Given the description of an element on the screen output the (x, y) to click on. 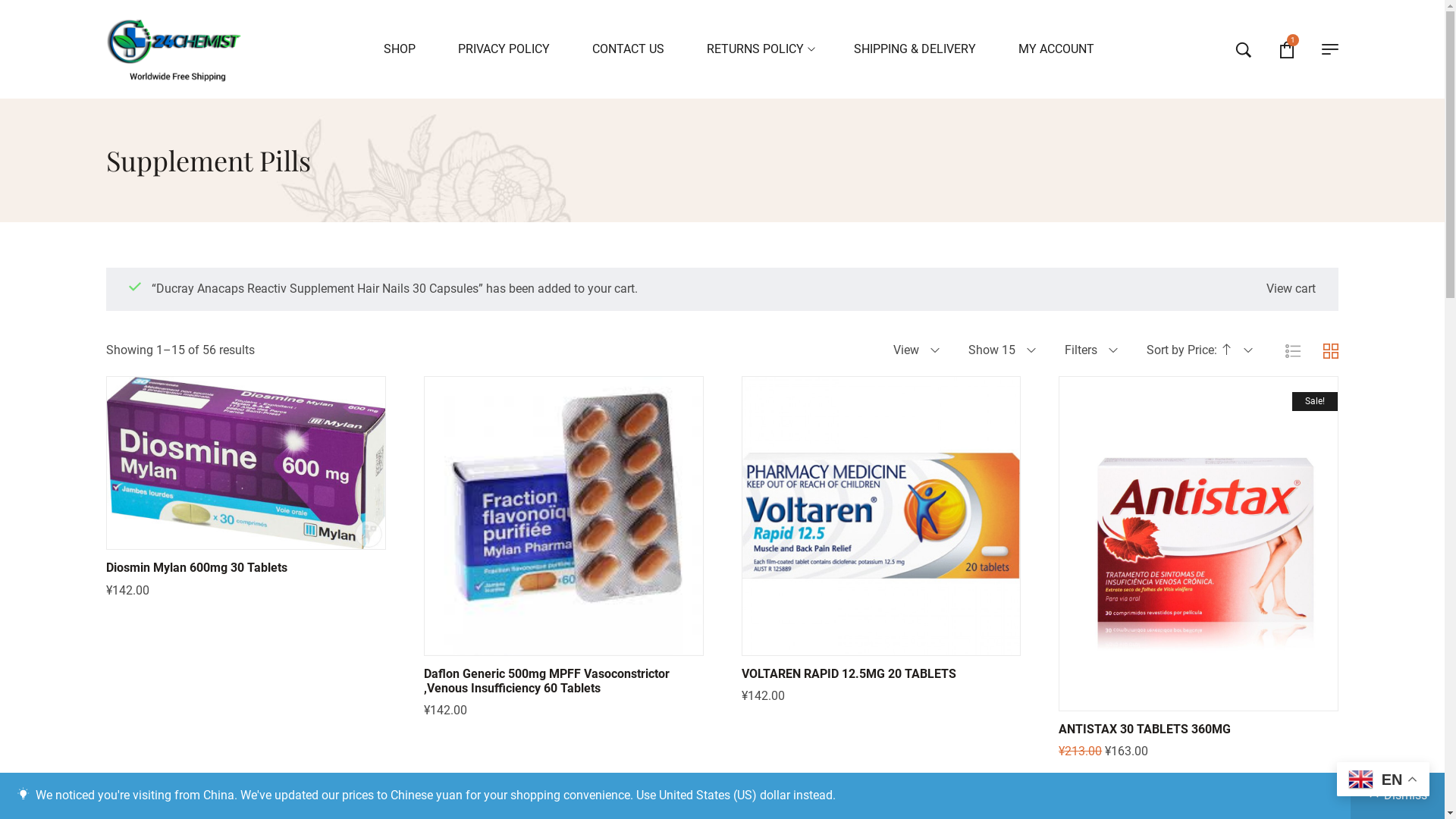
SHOP Element type: text (399, 49)
SHIPPING & DELIVERY Element type: text (914, 49)
Sort by Price: Element type: text (1198, 350)
List view Element type: hover (1292, 350)
Diosmin Mylan 600mg 30 Tablets Element type: text (196, 567)
VOLTAREN RAPID 12.5MG 20 TABLETS Element type: text (848, 673)
View cart Element type: text (1290, 289)
PRIVACY POLICY Element type: text (503, 49)
Grid view Element type: hover (1330, 350)
1 Element type: text (1286, 48)
MY ACCOUNT Element type: text (1056, 49)
Show 15 Element type: text (1001, 350)
Use United States (US) dollar instead. Element type: text (735, 794)
RETURNS POLICY Element type: text (758, 49)
View Element type: text (915, 350)
Sale! Element type: text (1198, 543)
ANTISTAX 30 TABLETS 360MG Element type: text (1144, 728)
CONTACT US Element type: text (628, 49)
Filters Element type: text (1090, 350)
